Given the description of an element on the screen output the (x, y) to click on. 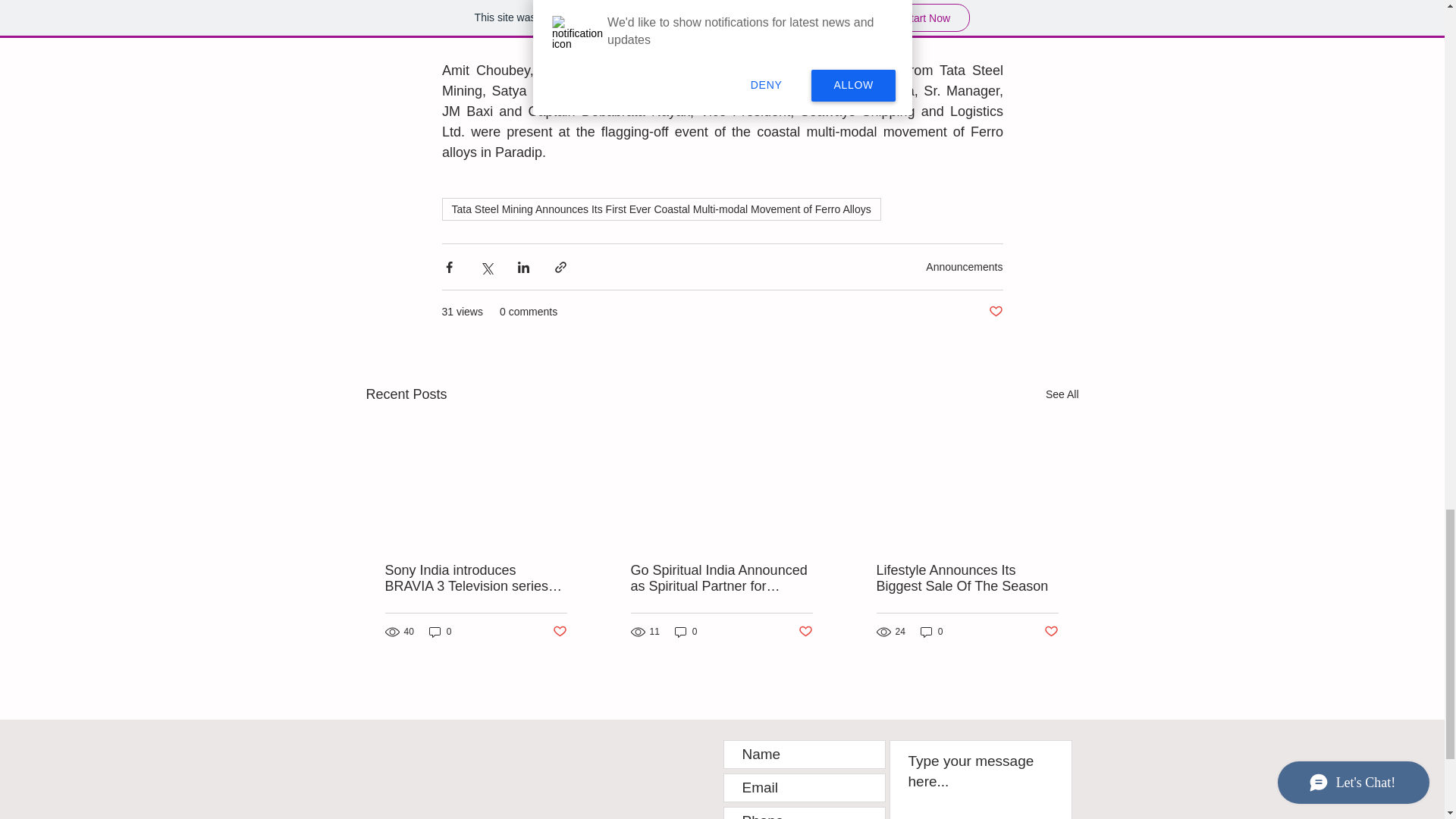
Post not marked as liked (558, 631)
0 (931, 631)
Announcements (964, 266)
Post not marked as liked (1050, 631)
0 (440, 631)
See All (1061, 394)
Lifestyle Announces Its Biggest Sale Of The Season (967, 578)
0 (685, 631)
Post not marked as liked (804, 631)
Post not marked as liked (995, 311)
